Given the description of an element on the screen output the (x, y) to click on. 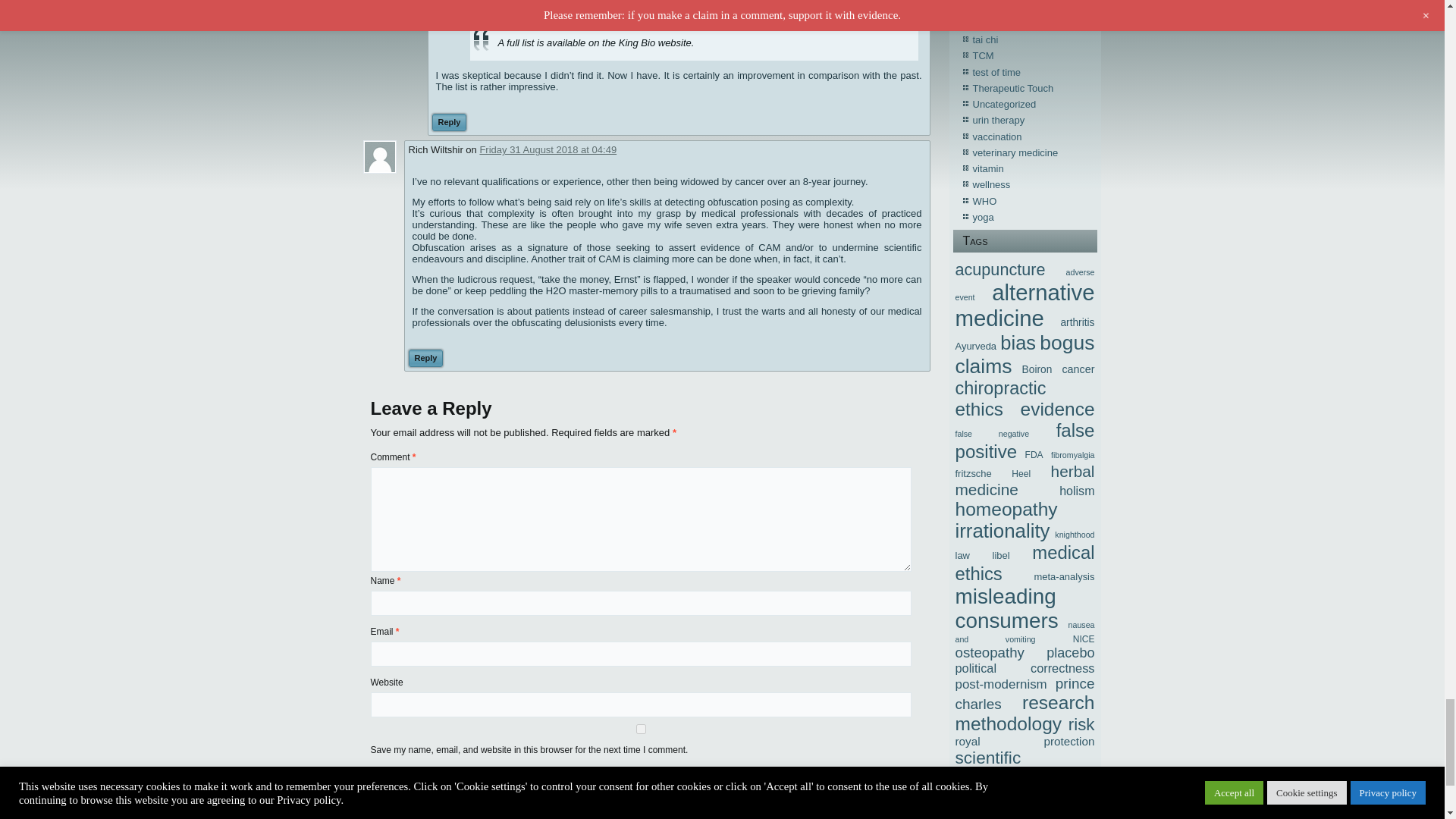
subscribe (374, 808)
yes (640, 728)
subscribe (374, 788)
